Given the description of an element on the screen output the (x, y) to click on. 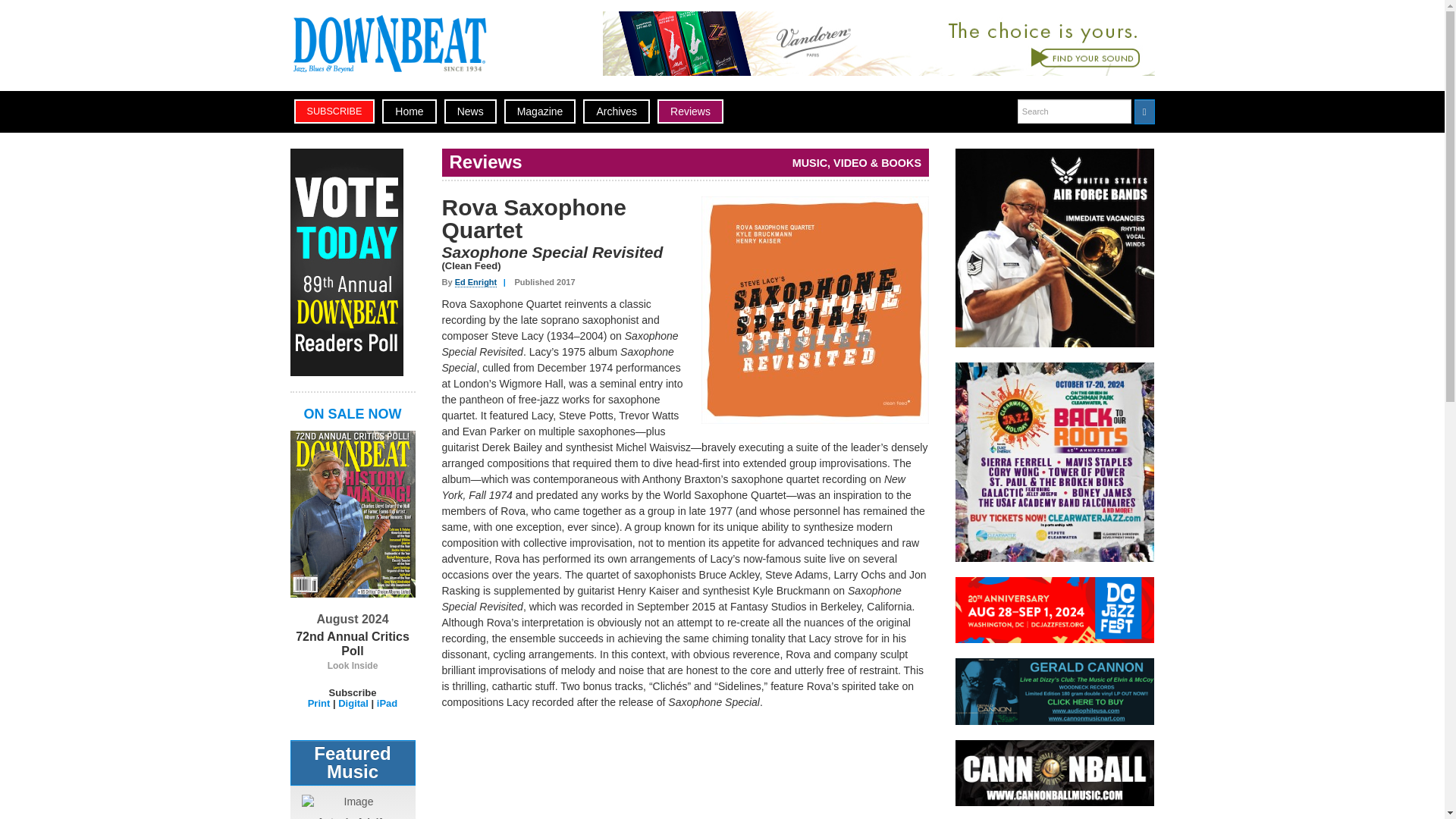
Magazine (539, 111)
Reviews (690, 111)
Home (408, 111)
Print (318, 703)
Featured Music (351, 762)
SUBSCRIBE (334, 111)
Digital (352, 703)
News (470, 111)
Ed Enright (475, 282)
Archives (616, 111)
